Given the description of an element on the screen output the (x, y) to click on. 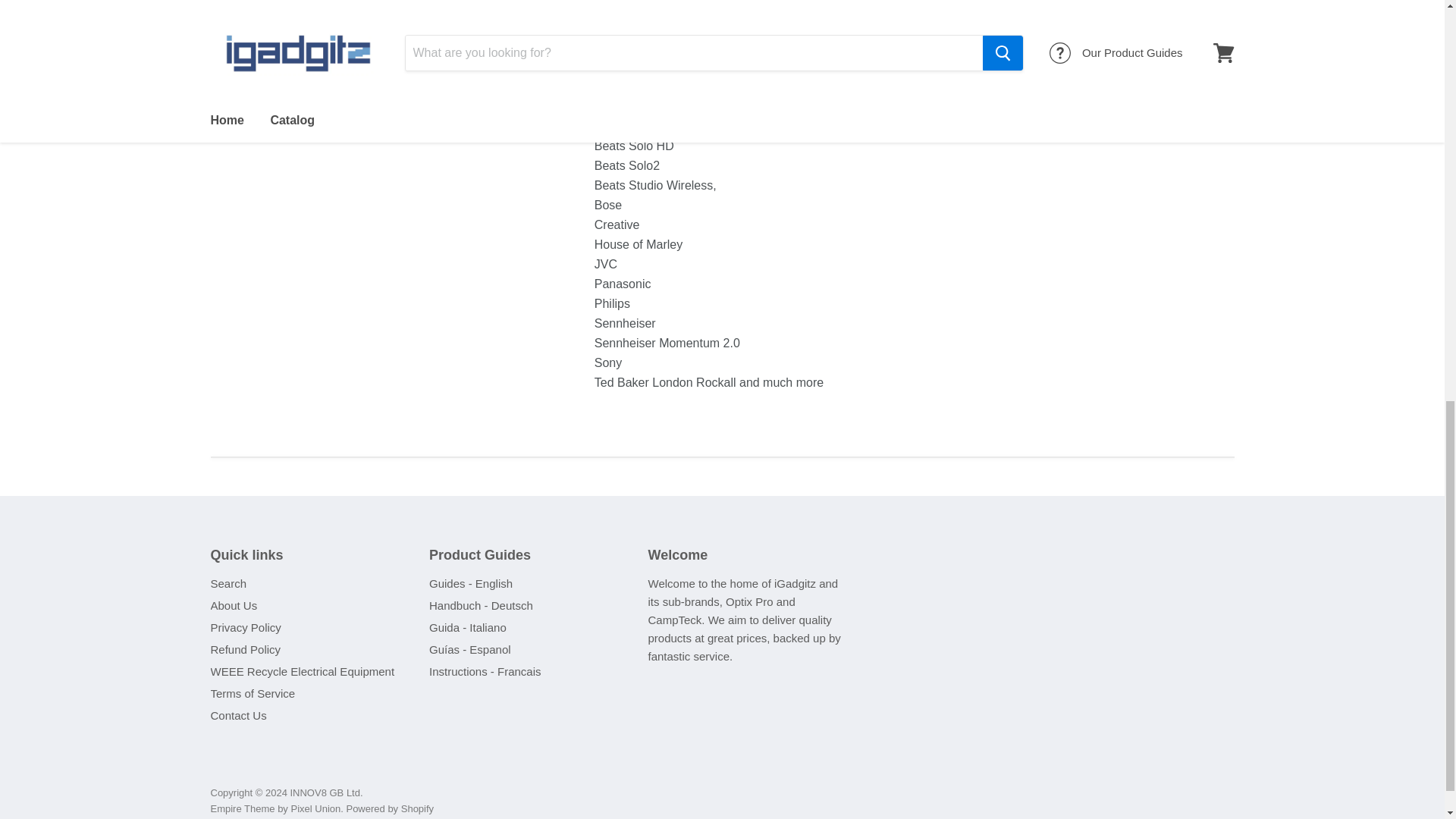
Empire Theme by Pixel Union (275, 808)
Guida - Italiano (467, 626)
Contact Us (238, 715)
Powered by Shopify (389, 808)
WEEE Recycle Electrical Equipment (302, 671)
Instructions - Francais (485, 671)
Search (229, 583)
Handbuch - Deutsch (480, 604)
About Us (234, 604)
Privacy Policy (246, 626)
Refund Policy (246, 649)
Terms of Service (253, 693)
Guides - English (470, 583)
